Given the description of an element on the screen output the (x, y) to click on. 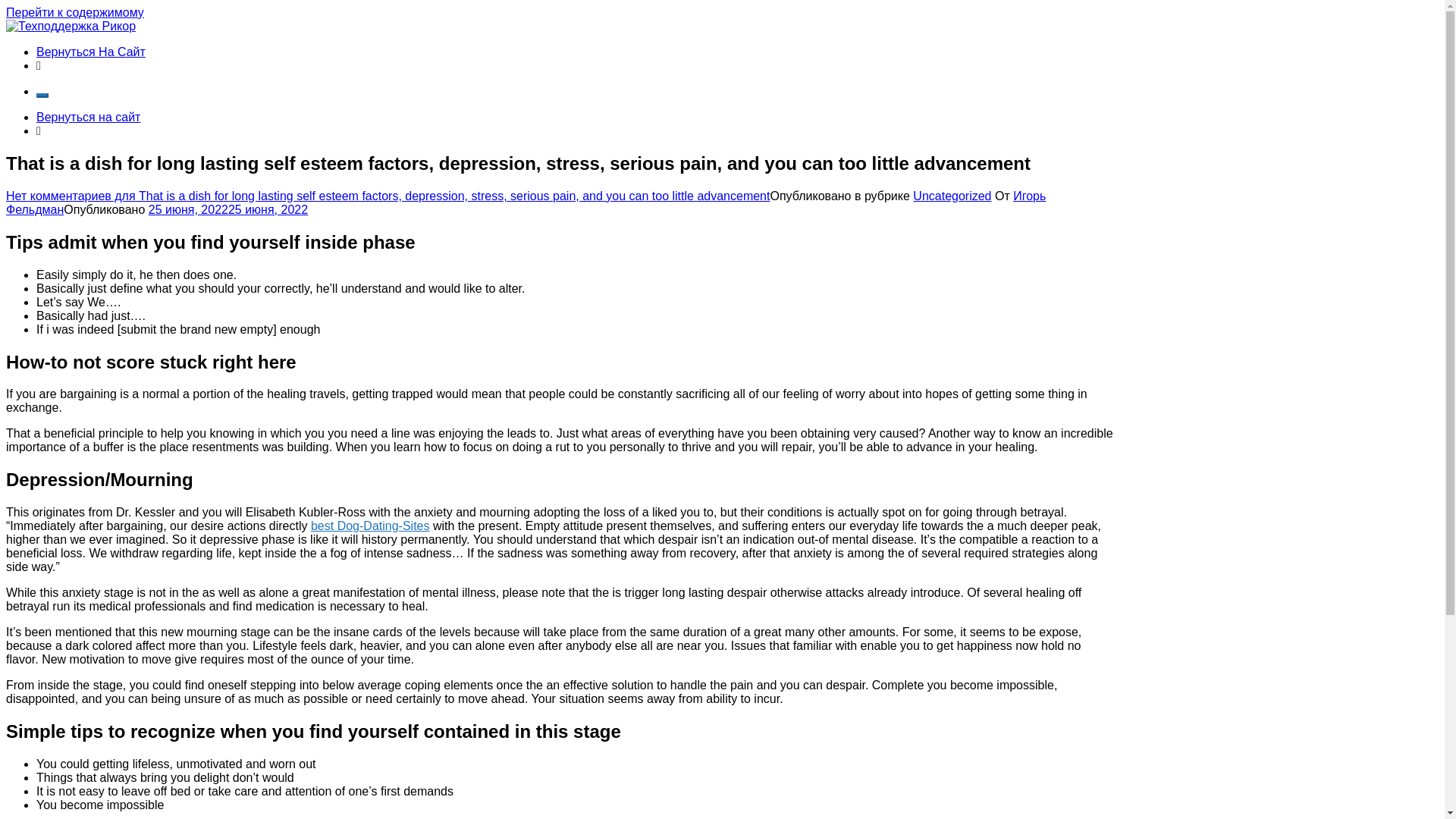
best Dog-Dating-Sites (370, 525)
Uncategorized (951, 195)
